Given the description of an element on the screen output the (x, y) to click on. 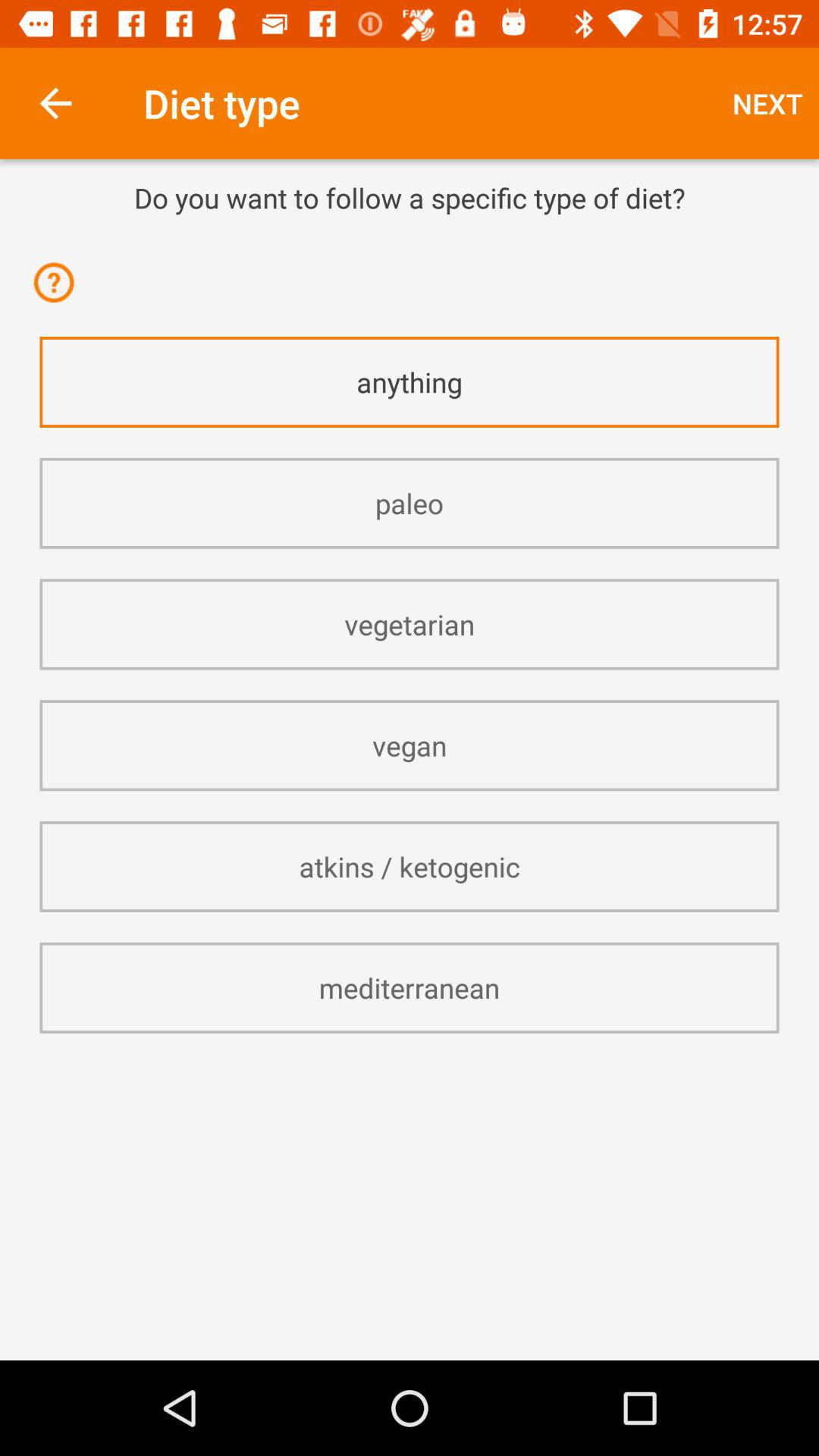
tap item above the do you want item (55, 103)
